Given the description of an element on the screen output the (x, y) to click on. 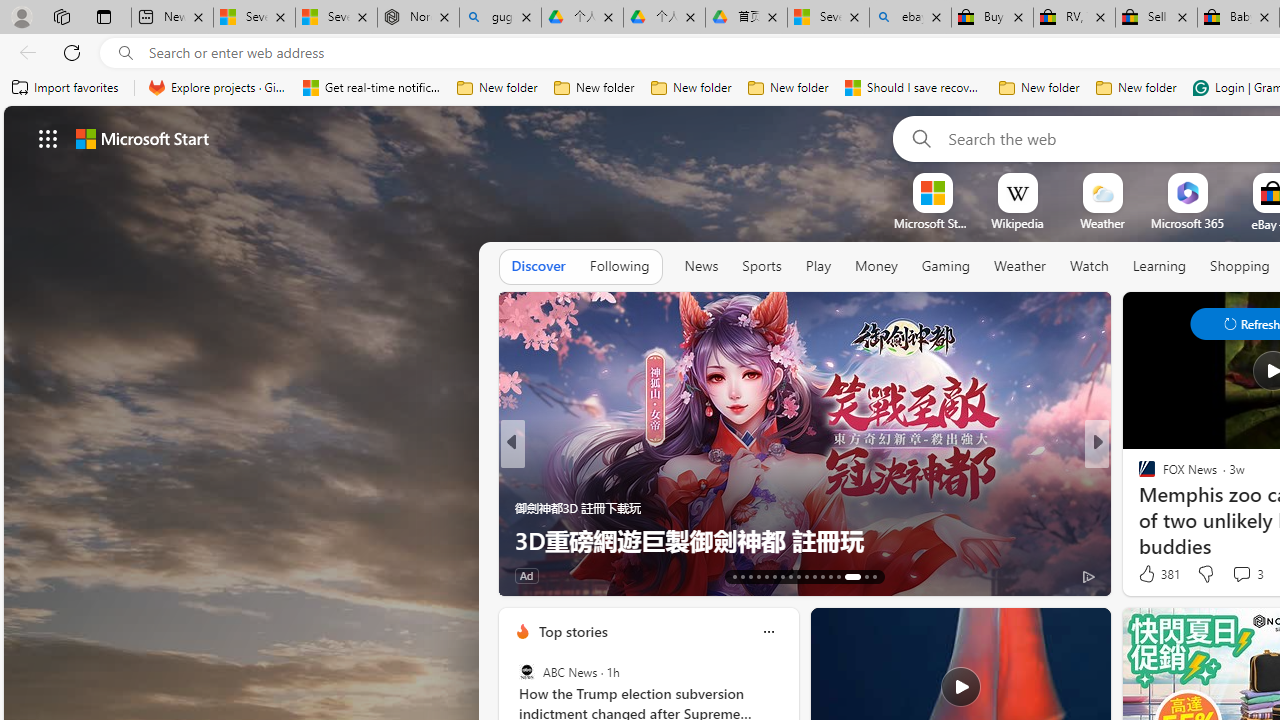
AutomationID: tab-25 (829, 576)
View comments 4 Comment (11, 575)
Search icon (125, 53)
ebay - Search (910, 17)
AutomationID: tab-13 (733, 576)
Sports (761, 267)
Watch (1089, 265)
Learning (1159, 265)
192 Like (1151, 574)
